Given the description of an element on the screen output the (x, y) to click on. 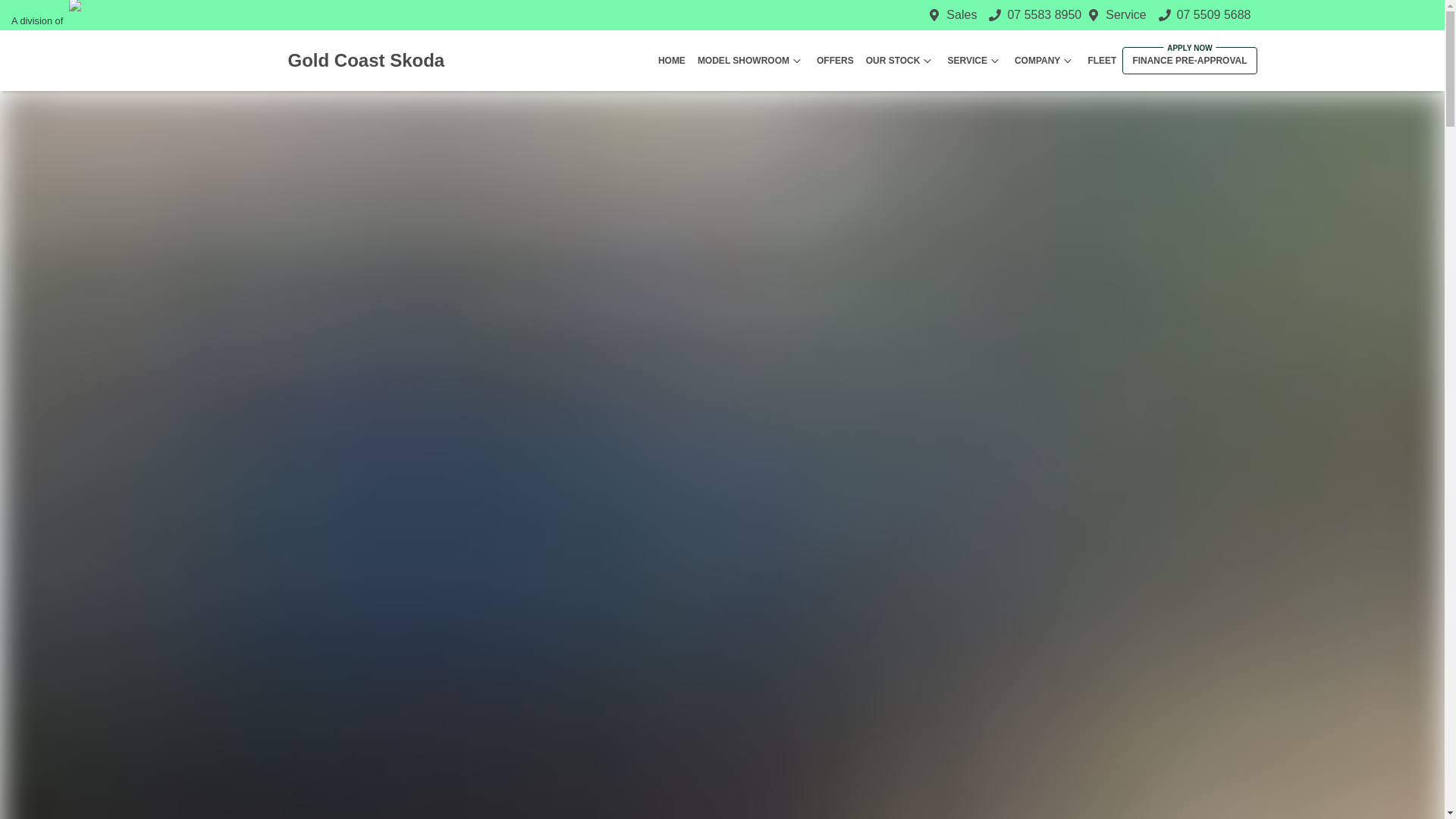
SERVICE (973, 60)
07 5583 8950 (1044, 14)
FINANCE PRE-APPROVAL (1189, 60)
Gold Coast Skoda (316, 60)
OFFERS (835, 60)
Service (1125, 14)
OUR STOCK (901, 60)
07 5509 5688 (1213, 14)
Sales (961, 14)
FLEET (1101, 60)
HOME (671, 60)
MODEL SHOWROOM (750, 60)
COMPANY (1045, 60)
A division of (121, 21)
